Given the description of an element on the screen output the (x, y) to click on. 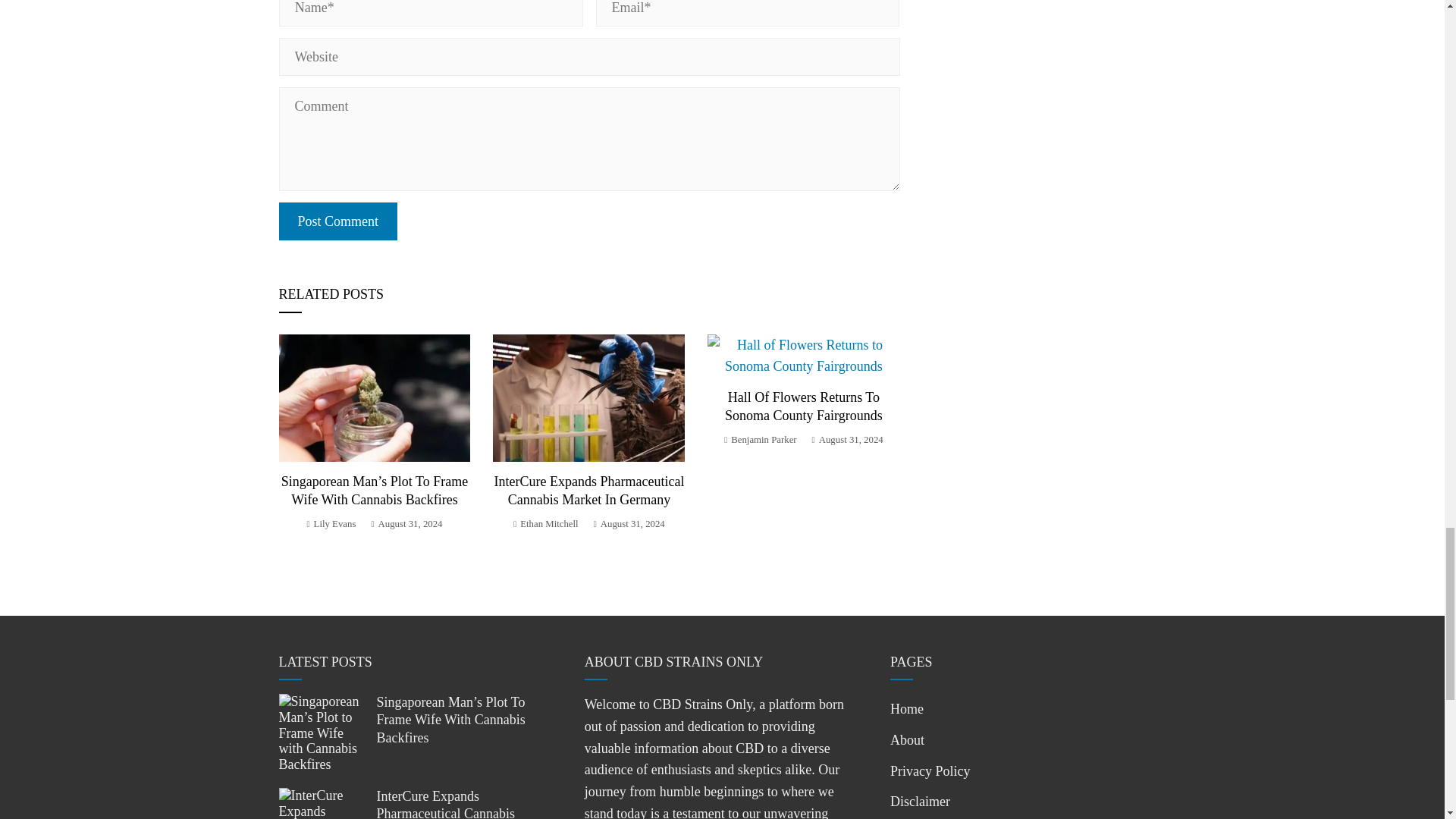
Hall Of Flowers Returns To Sonoma County Fairgrounds (803, 405)
Post Comment (338, 221)
InterCure Expands Pharmaceutical Cannabis Market in Germany (589, 490)
InterCure Expands Pharmaceutical Cannabis Market In Germany (589, 490)
Hall of Flowers Returns to Sonoma County Fairgrounds (803, 405)
Post Comment (338, 221)
